Given the description of an element on the screen output the (x, y) to click on. 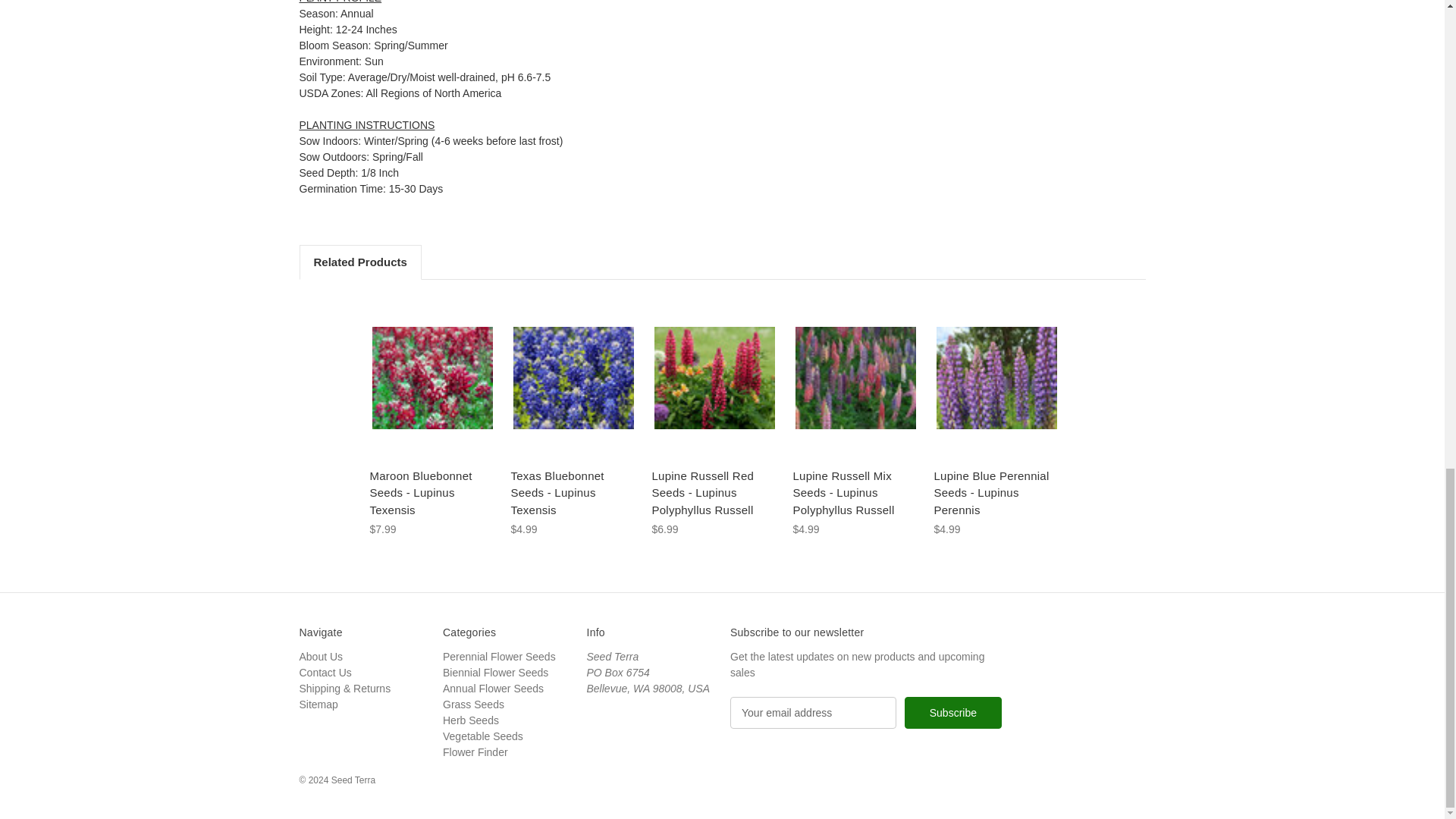
Lupine Blue Perennial Seeds - Lupinus Perennis (996, 377)
Related Products (359, 262)
Lupine Russell Red Seeds - Lupinus Polyphyllus Russell (713, 377)
Subscribe (952, 712)
Texas Bluebonnet Seeds - Lupinus Texensis (572, 377)
Lupine Russell Mix Seeds - Lupinus Polyphyllus Russell (854, 377)
Maroon Bluebonnet Seeds - Lupinus Texensis (431, 377)
